Given the description of an element on the screen output the (x, y) to click on. 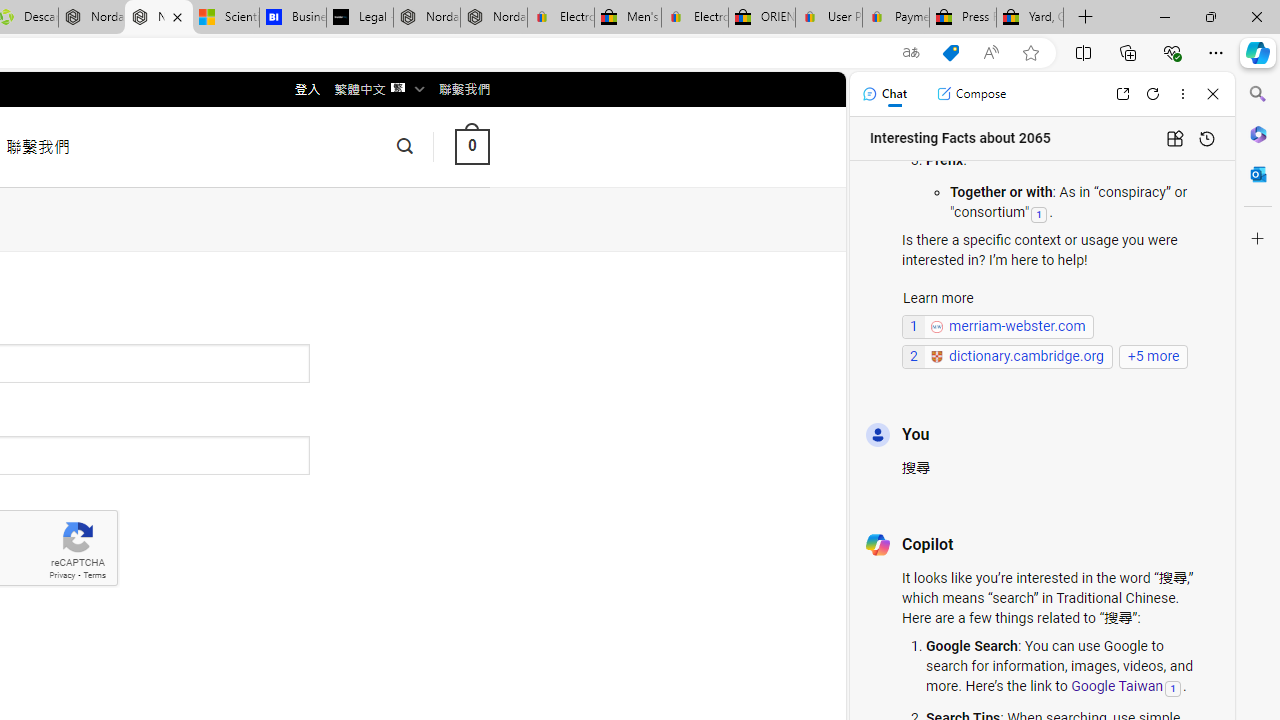
  0   (472, 146)
